Given the description of an element on the screen output the (x, y) to click on. 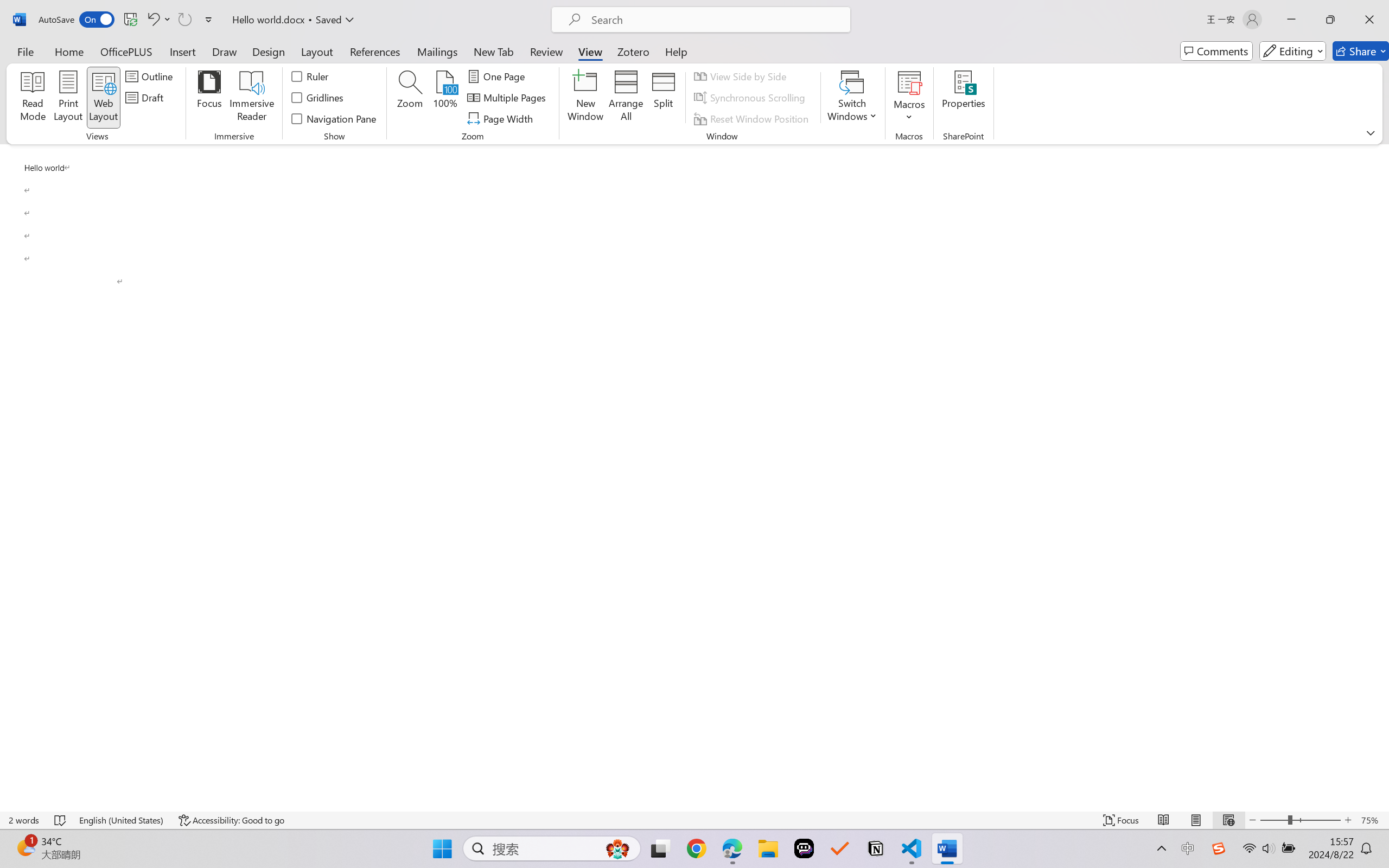
Macros (909, 97)
Undo Paragraph Formatting (158, 19)
New Tab (493, 51)
Read Mode (1163, 819)
Immersive Reader (251, 97)
Minimize (1291, 19)
Close (1369, 19)
Help (675, 51)
100% (445, 97)
Language English (United States) (121, 819)
Zoom Out (1273, 819)
Properties (963, 97)
Navigation Pane (334, 118)
Zoom (1300, 819)
